Given the description of an element on the screen output the (x, y) to click on. 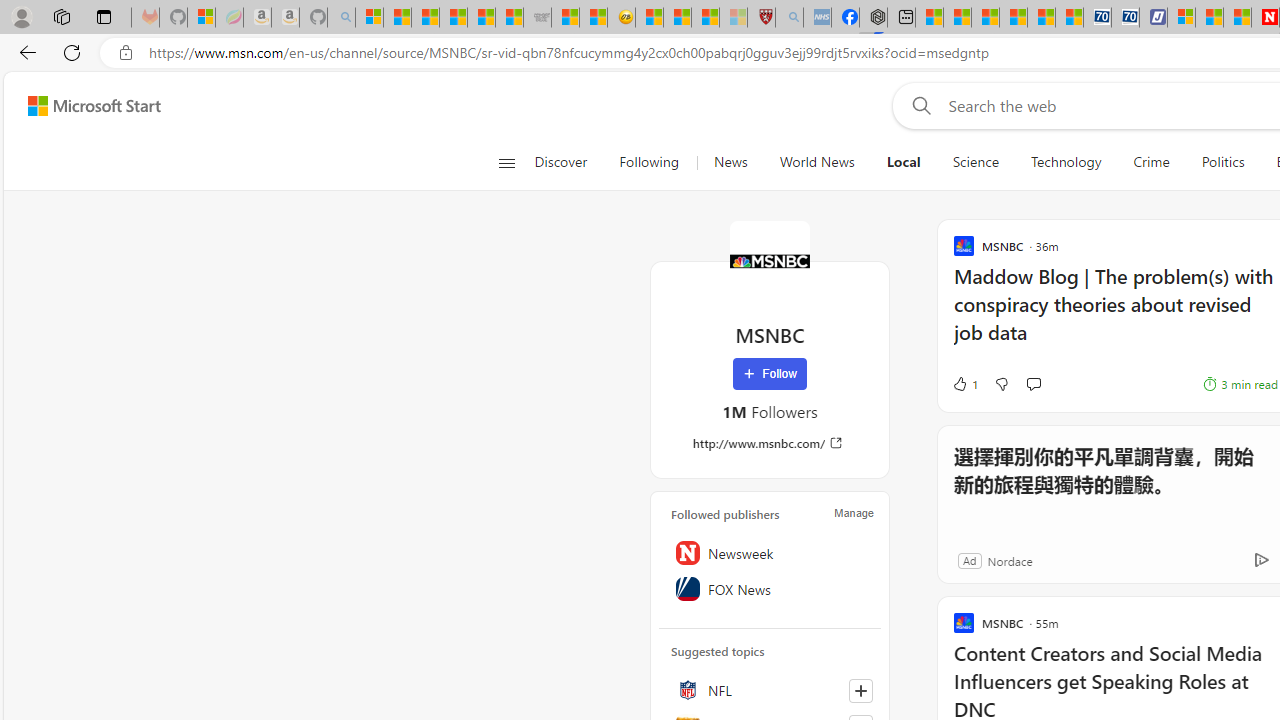
FOX News (770, 588)
Follow this topic (860, 690)
Class: button-glyph (505, 162)
Technology (1066, 162)
Politics (1222, 162)
MSNBC (769, 260)
